Given the description of an element on the screen output the (x, y) to click on. 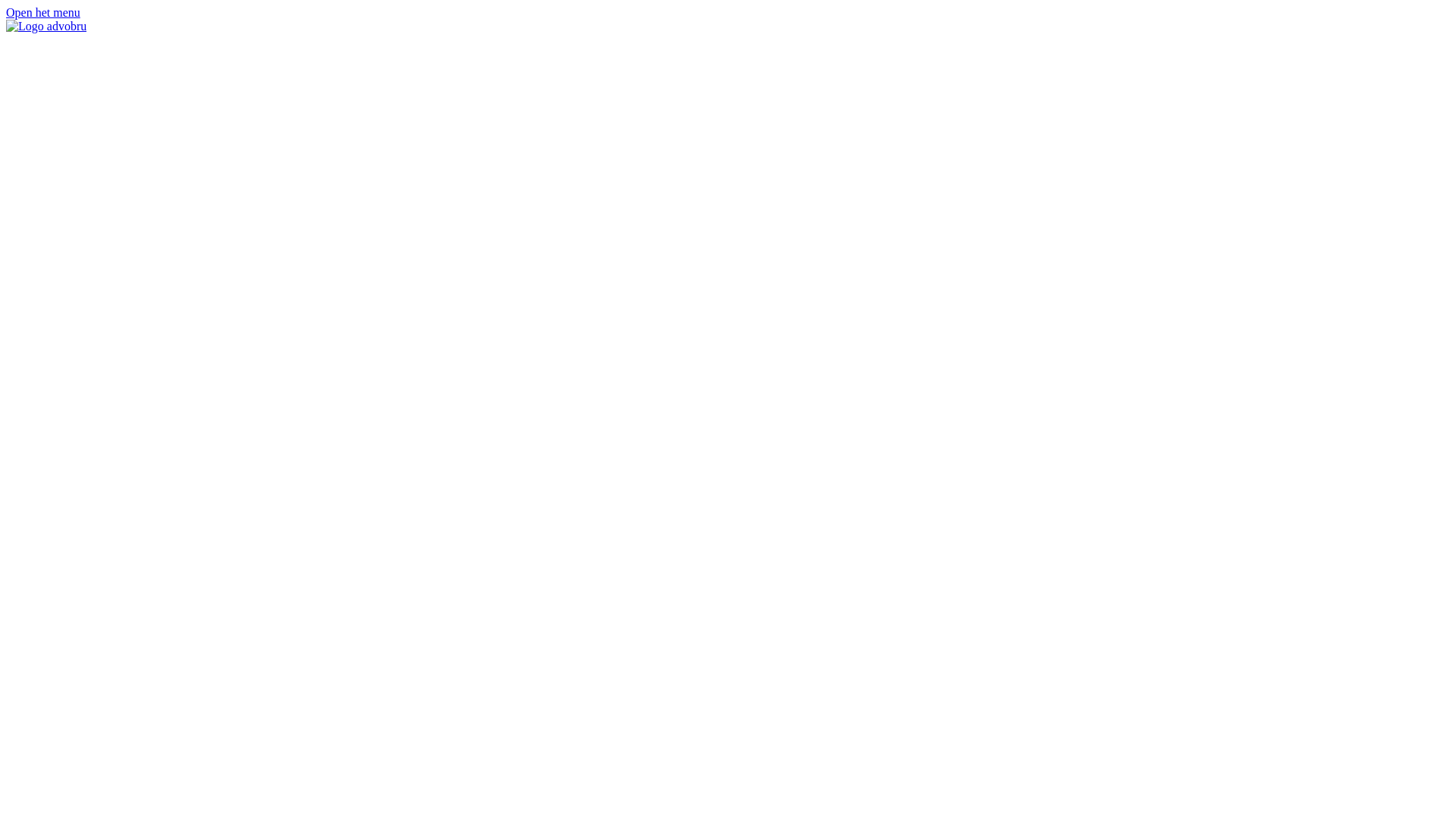
Open het menu Element type: text (43, 12)
